Given the description of an element on the screen output the (x, y) to click on. 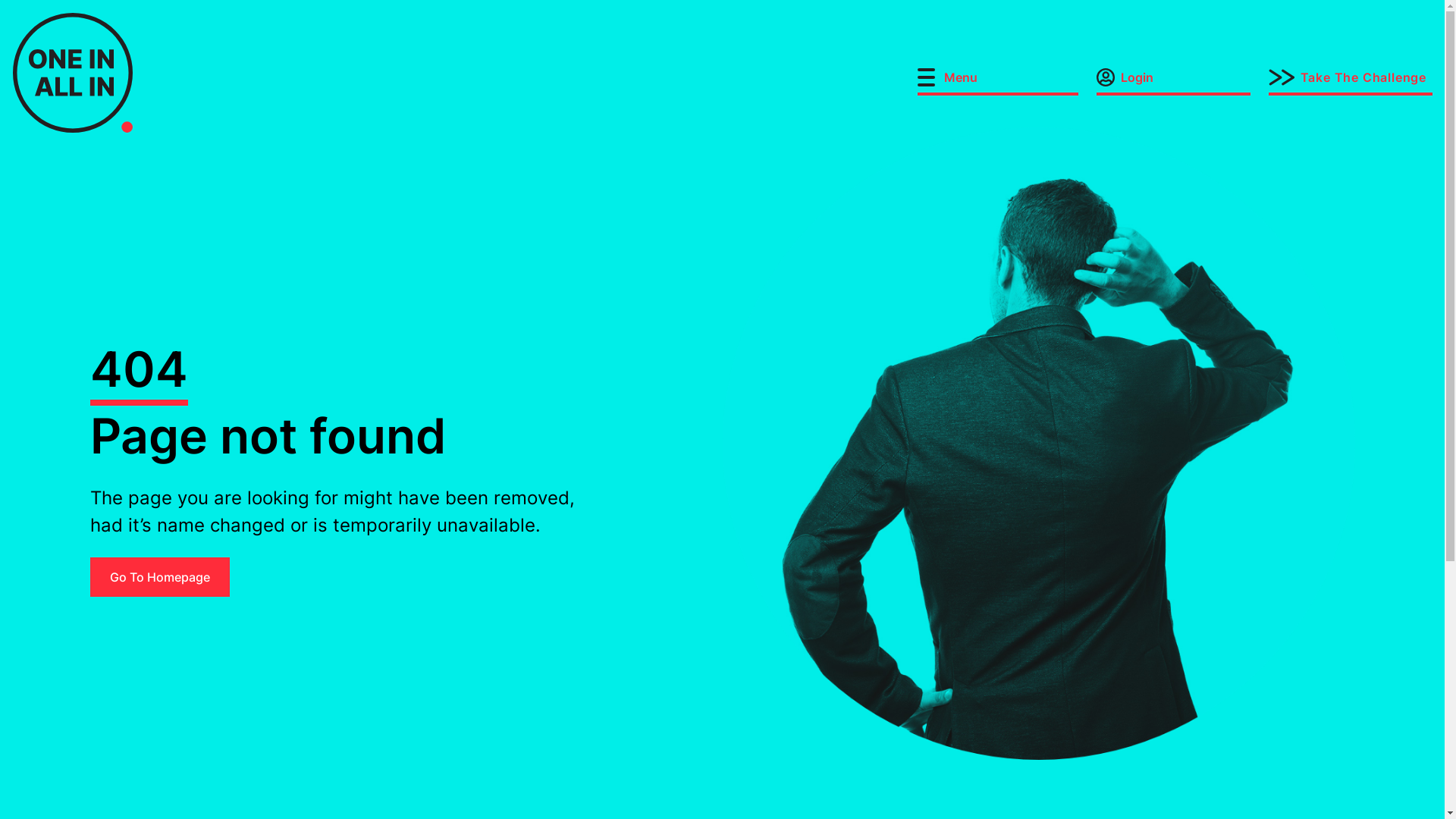
Take The Challenge Element type: text (1350, 81)
Menu Element type: text (997, 81)
Login Element type: text (1173, 81)
Go To Homepage Element type: text (159, 576)
